Given the description of an element on the screen output the (x, y) to click on. 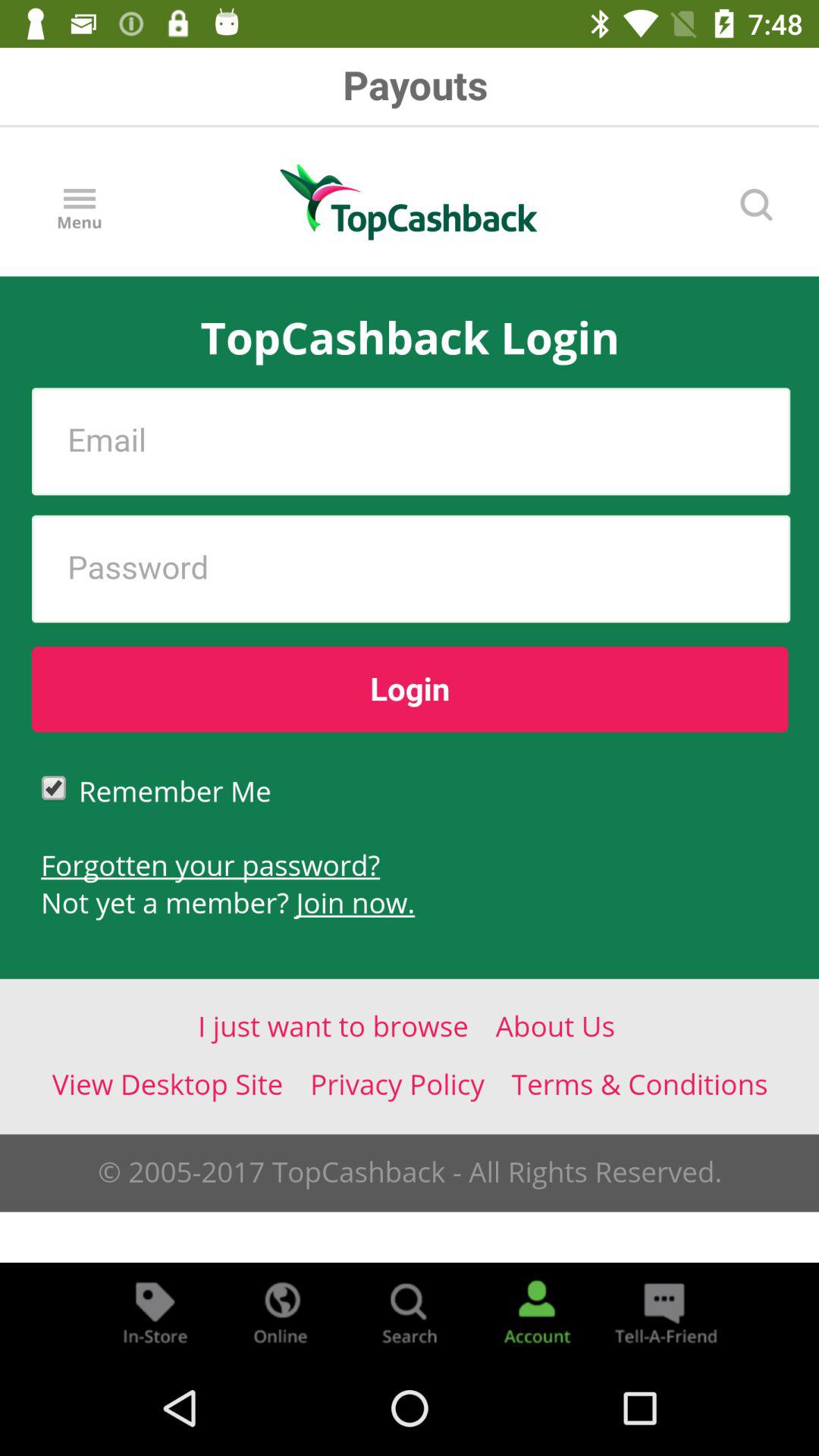
share the item (664, 1311)
